Given the description of an element on the screen output the (x, y) to click on. 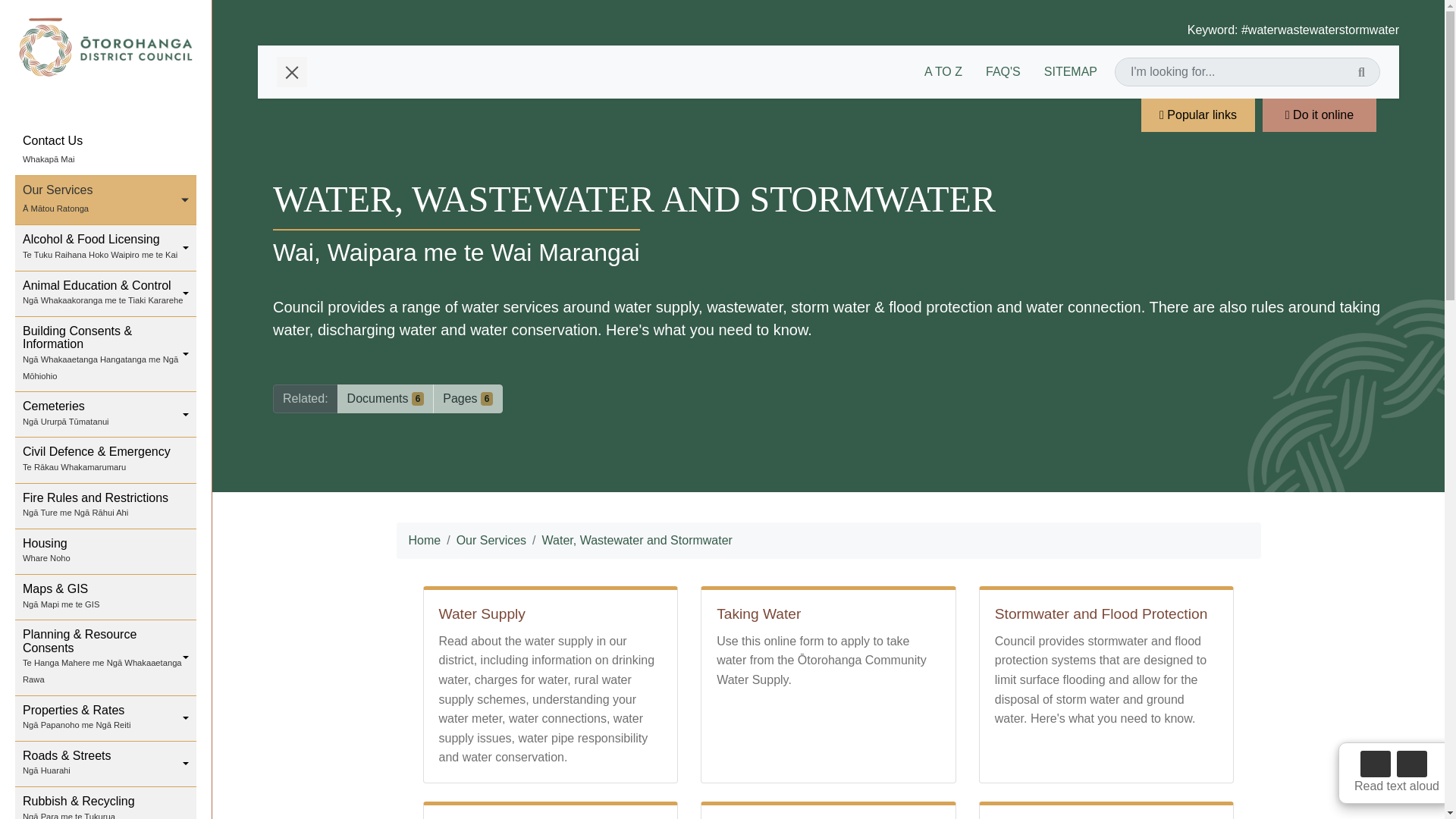
Go to home page.  (105, 47)
Our Services (105, 200)
Contact Us (105, 551)
